Given the description of an element on the screen output the (x, y) to click on. 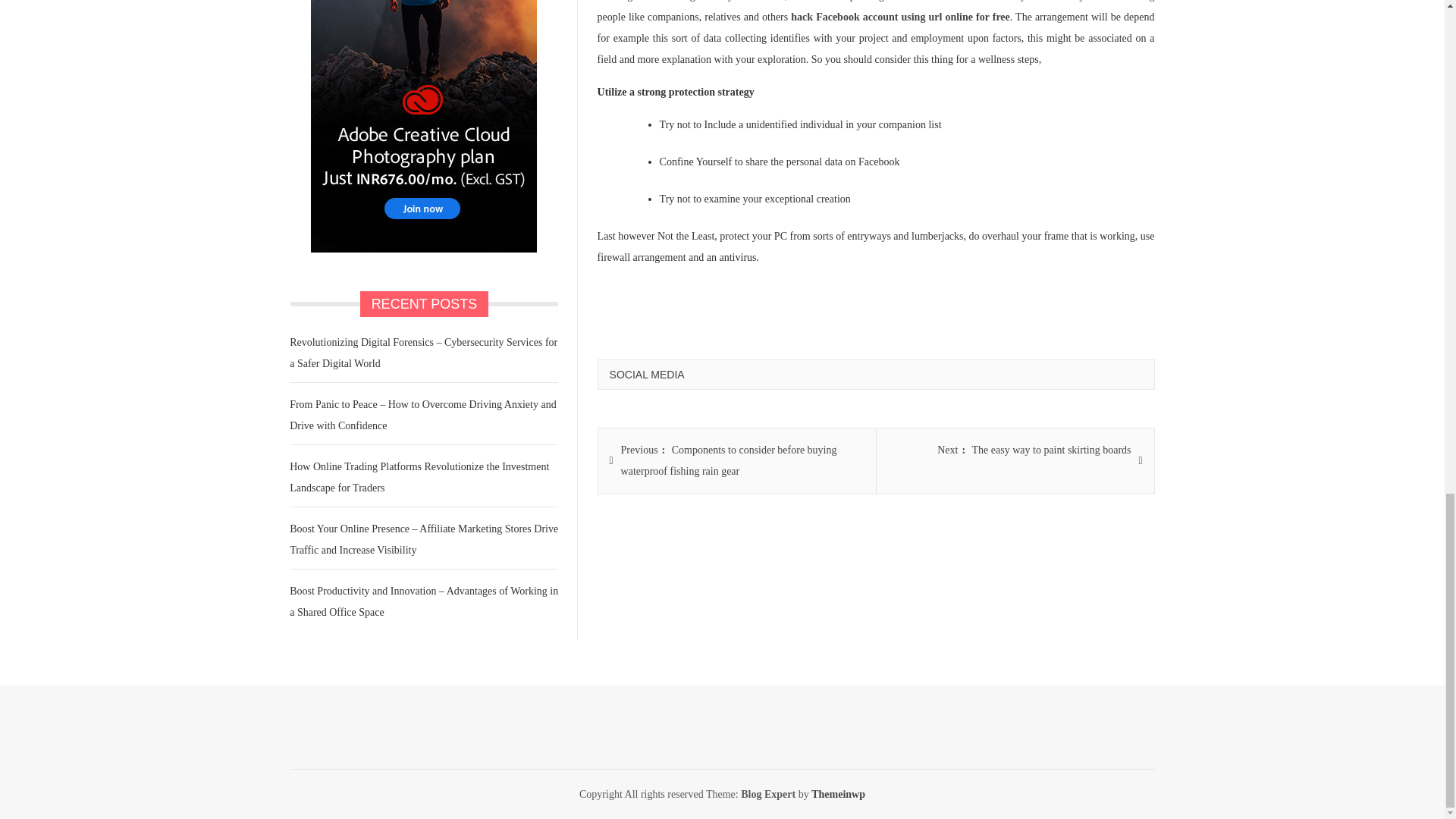
SOCIAL MEDIA (647, 374)
hack Facebook account using url online for free (1033, 450)
